Given the description of an element on the screen output the (x, y) to click on. 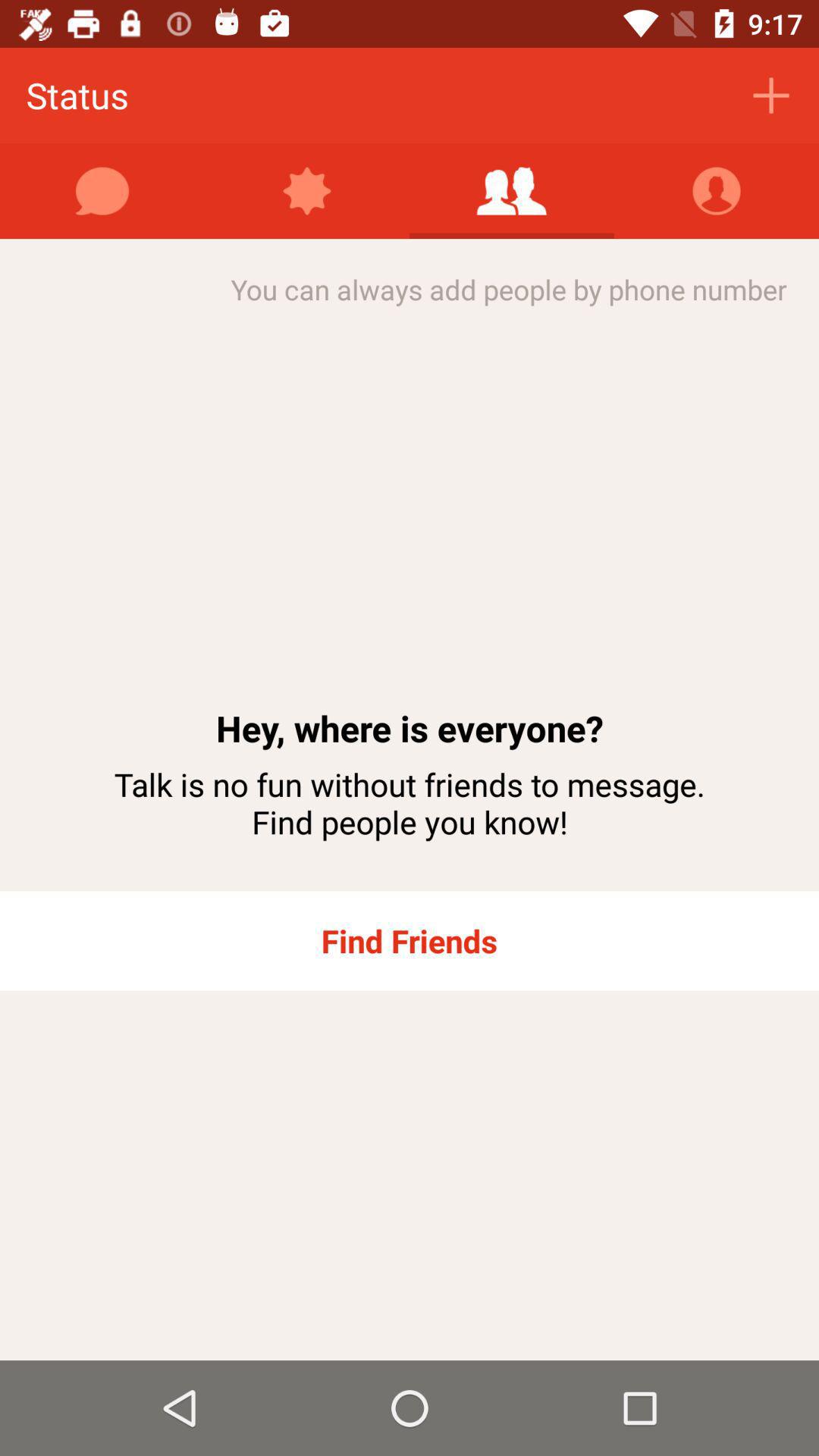
find people (511, 190)
